Given the description of an element on the screen output the (x, y) to click on. 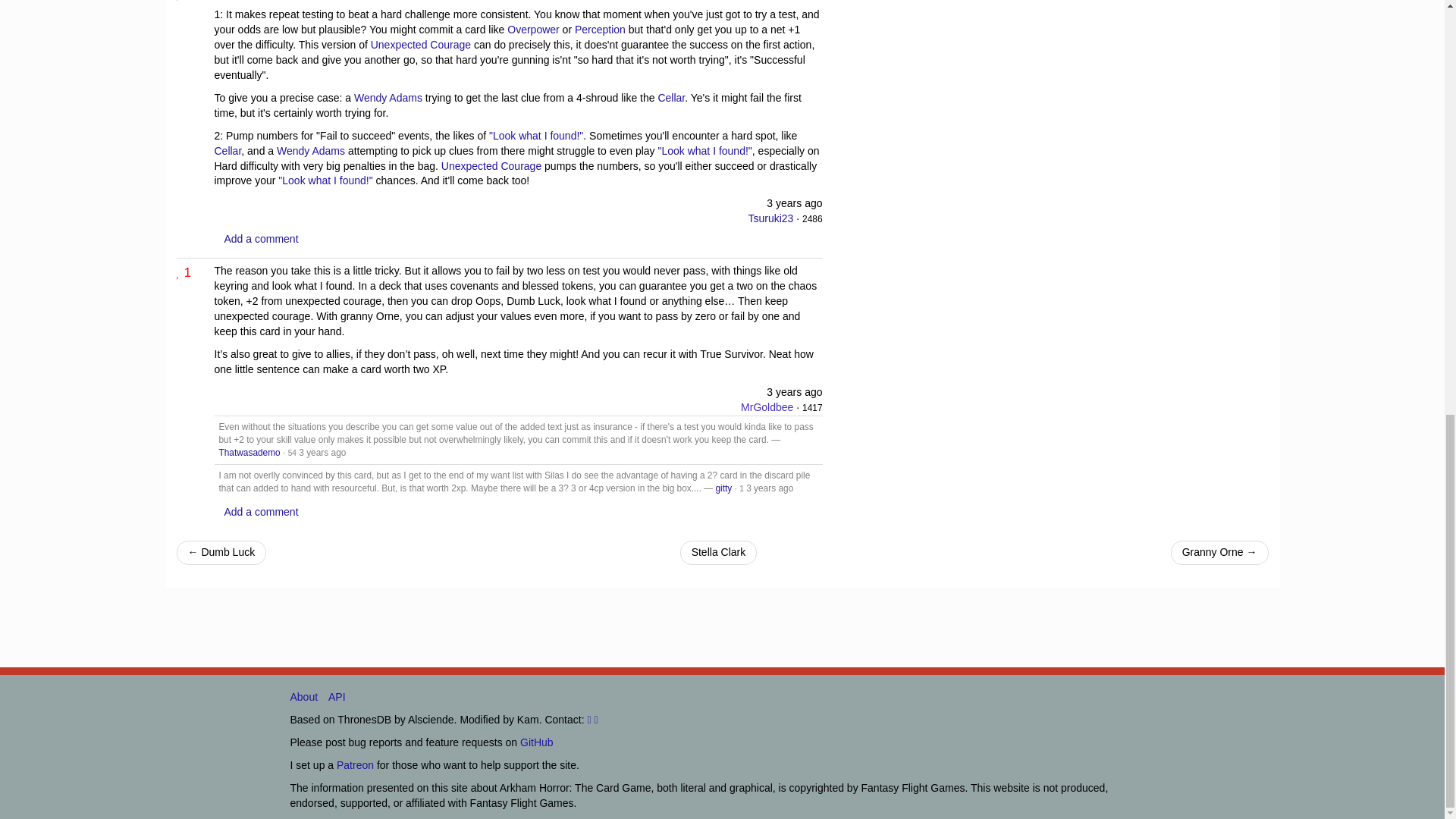
Saturday, February 20, 2021 7:20 PM (322, 452)
User Reputation (812, 407)
User Reputation (292, 452)
Saturday, February 20, 2021 2:42 AM (794, 391)
User Reputation (812, 218)
Monday, September 27, 2021 6:15 AM (794, 203)
